Given the description of an element on the screen output the (x, y) to click on. 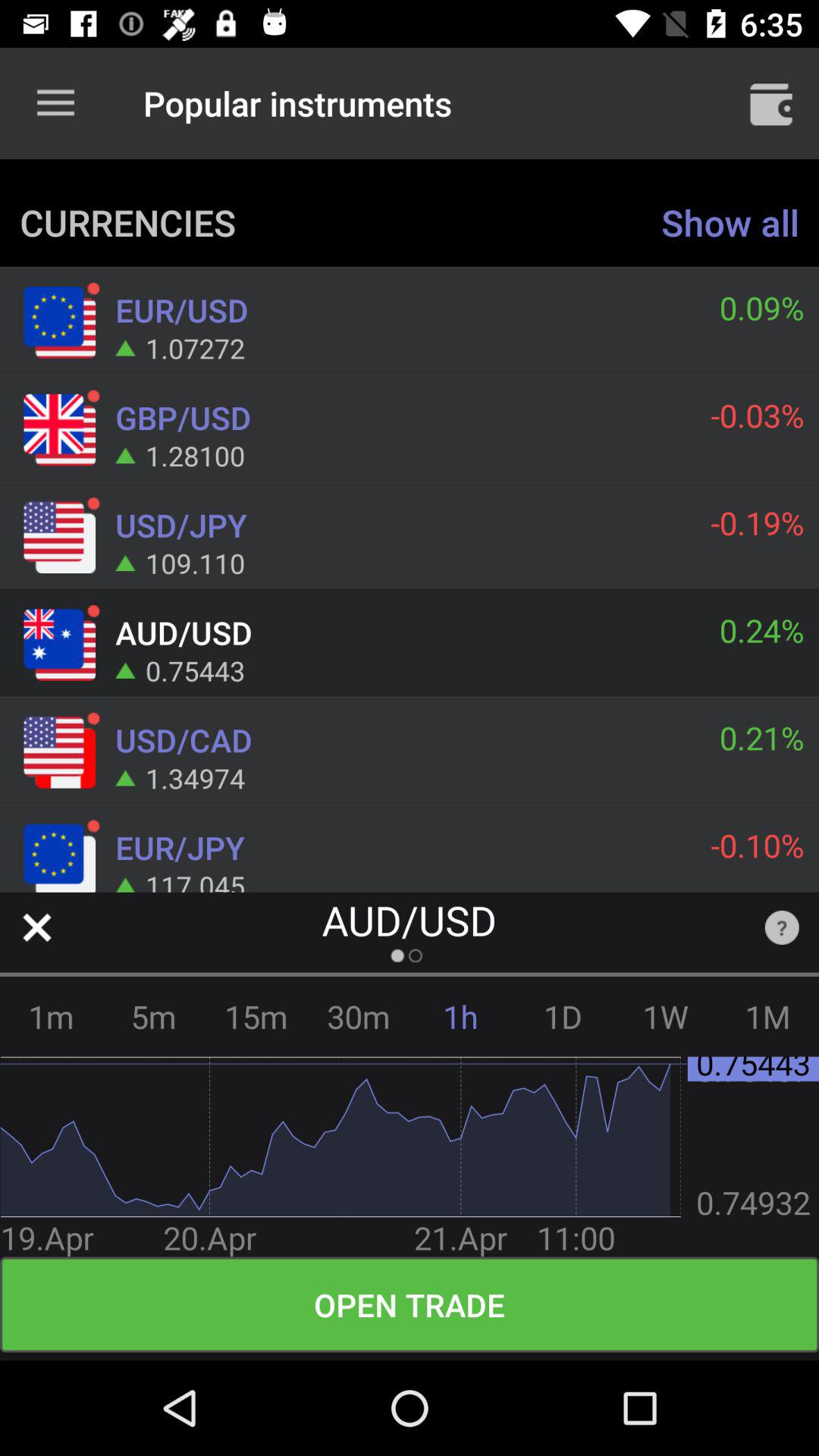
change option (36, 927)
